Given the description of an element on the screen output the (x, y) to click on. 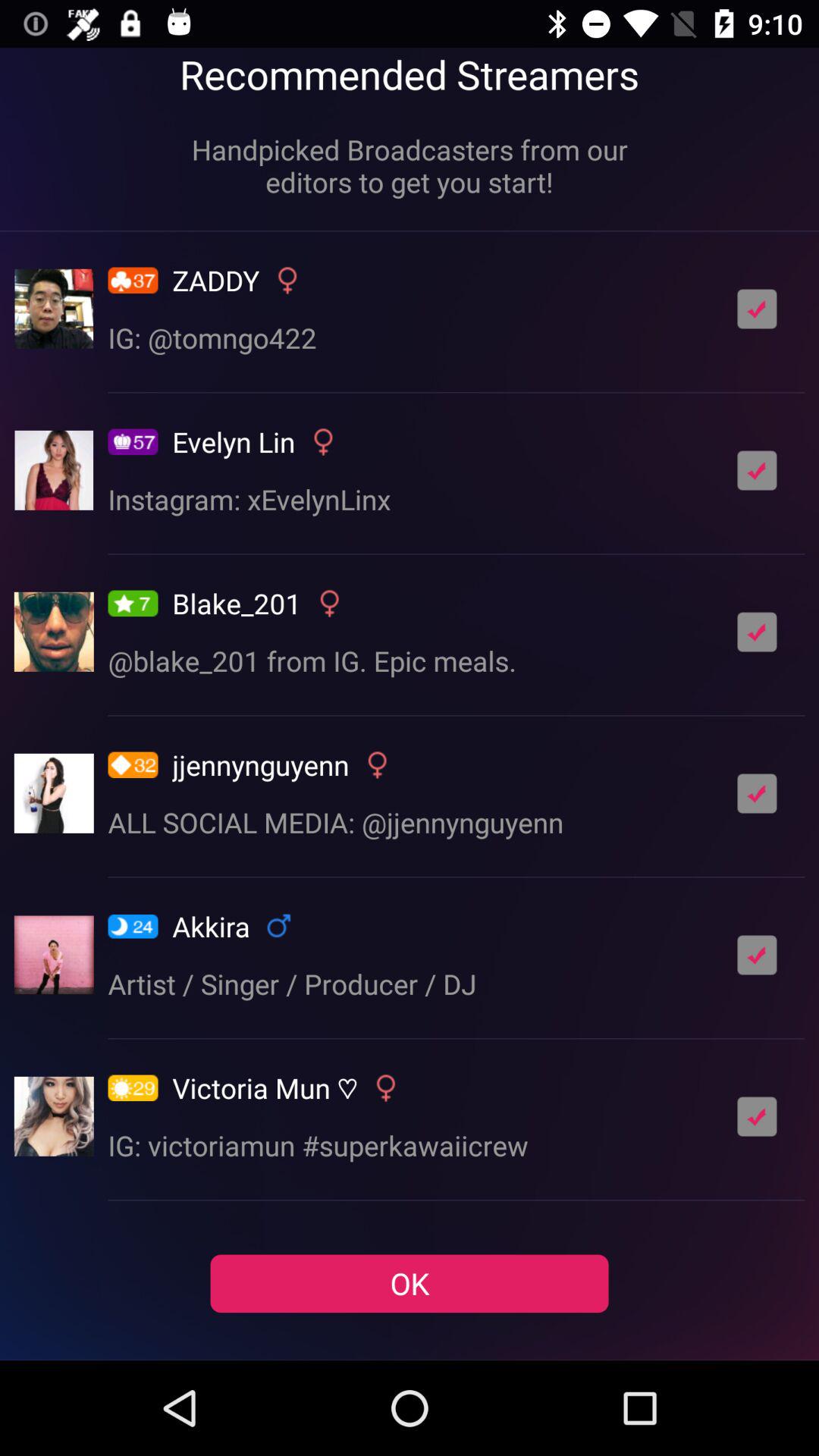
ok (756, 954)
